Given the description of an element on the screen output the (x, y) to click on. 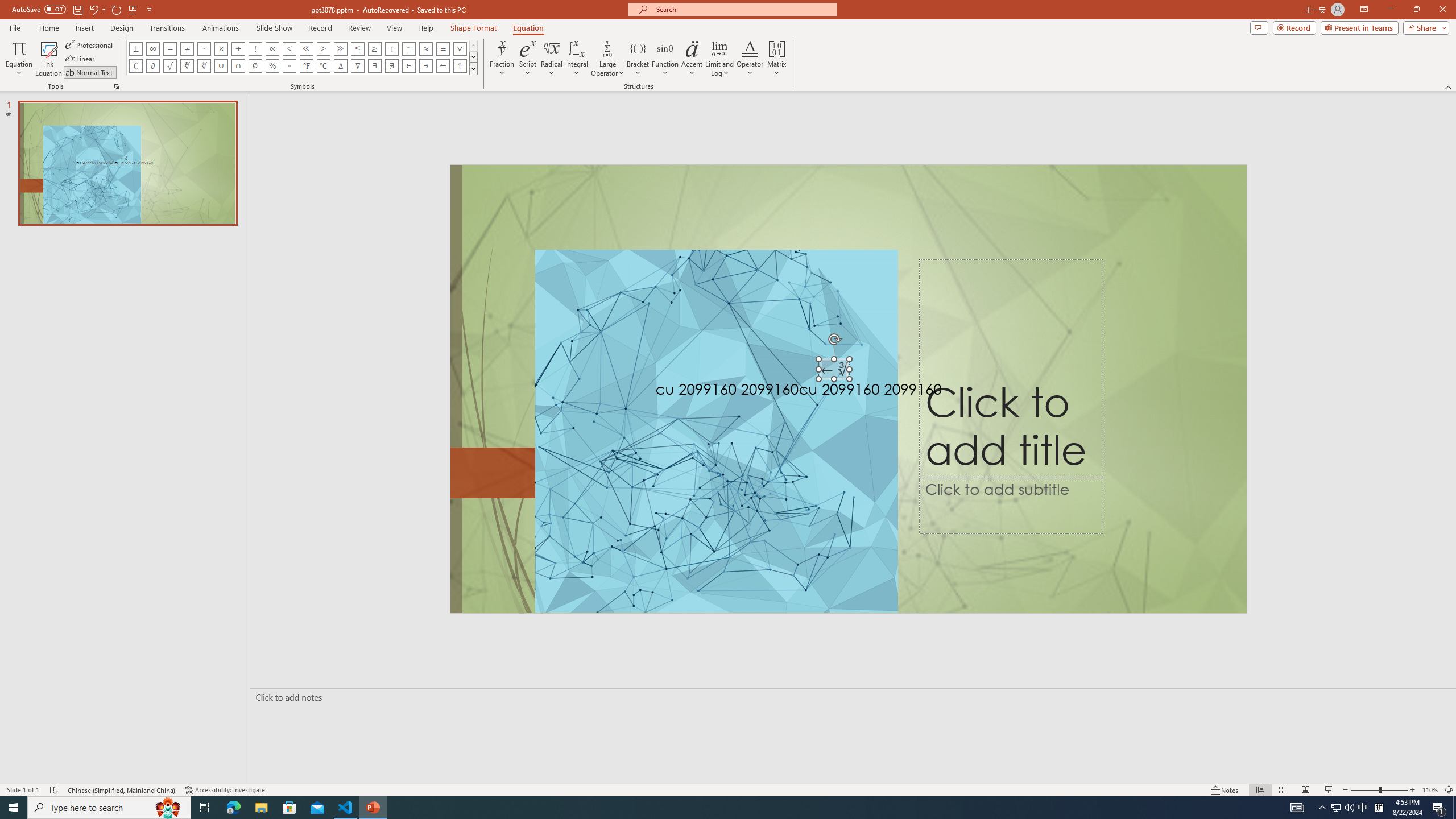
Equation Symbol Not Equal To (187, 48)
Equation Symbol Union (221, 65)
Equation Symbol Cube Root (187, 65)
Integral (576, 58)
Equation Symbol Approximately (203, 48)
Equation Symbol Proportional To (272, 48)
Equation Symbol Minus Plus (391, 48)
Equation Symbol Contains as Member (425, 65)
Accent (691, 58)
Equation Symbol Radical Sign (170, 65)
Function (664, 58)
